Given the description of an element on the screen output the (x, y) to click on. 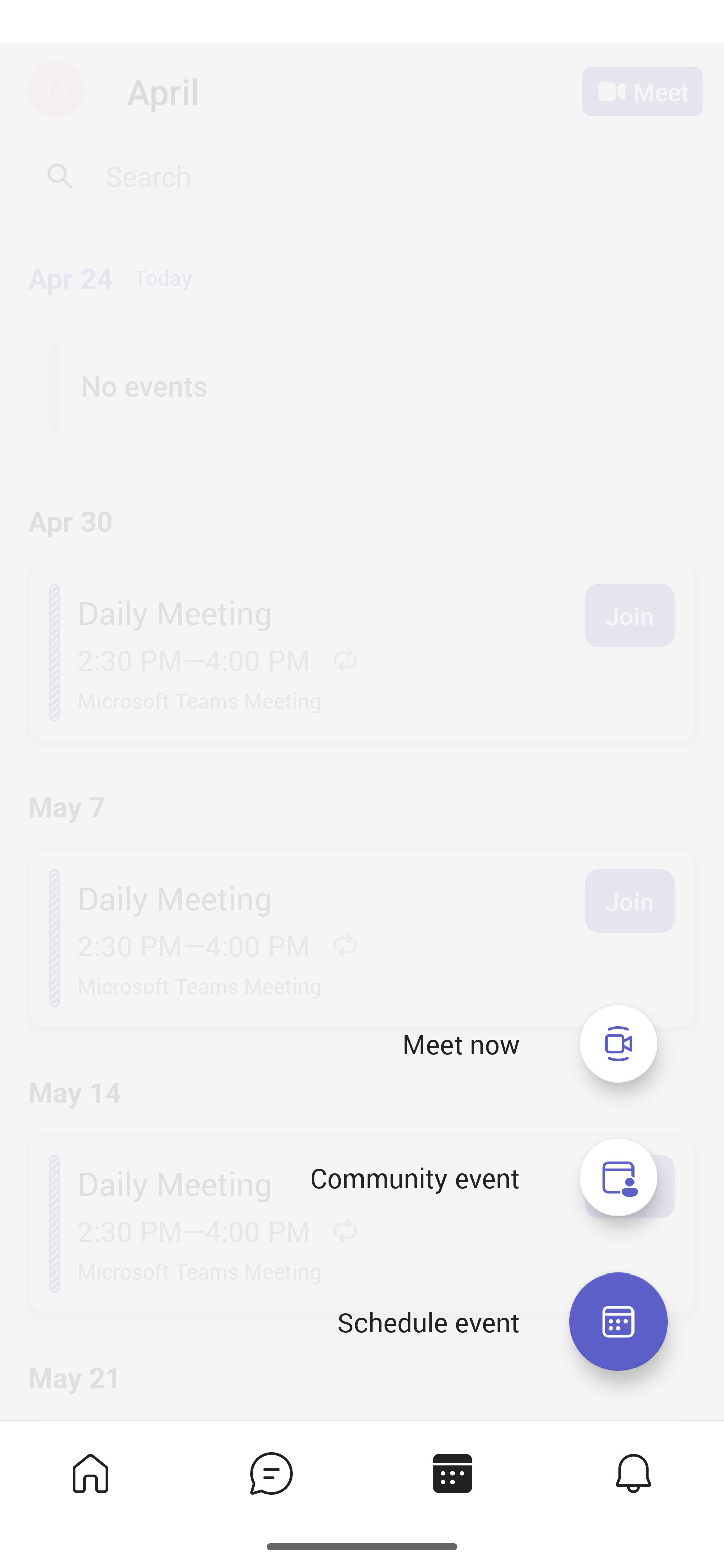
Meet now (618, 1043)
Meet now (461, 1044)
Community event (618, 1177)
Community event (414, 1177)
Schedule event (618, 1321)
Schedule event (428, 1321)
Home tab,1 of 4, not selected (89, 1472)
Chat tab,2 of 4, not selected (270, 1472)
Calendar tab, 3 of 4 (451, 1472)
Activity tab,4 of 4, not selected (632, 1472)
